Given the description of an element on the screen output the (x, y) to click on. 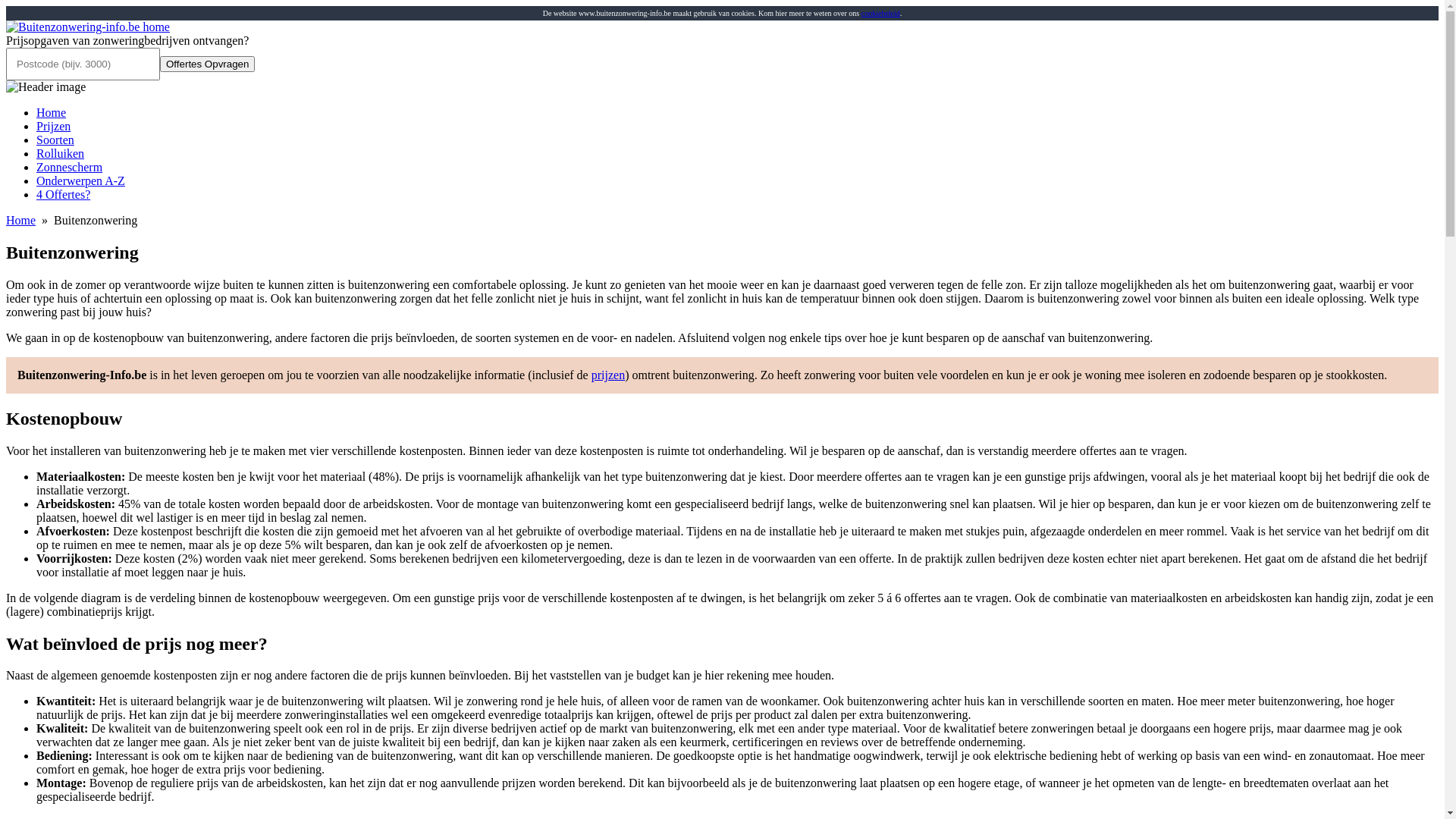
Home Element type: text (20, 219)
cookiebeleid Element type: text (880, 13)
prijzen Element type: text (607, 374)
Offertes Opvragen Element type: text (207, 64)
Zonnescherm Element type: text (69, 166)
Prijzen Element type: text (53, 125)
Onderwerpen A-Z Element type: text (80, 180)
Soorten Element type: text (55, 139)
Rolluiken Element type: text (60, 153)
Home Element type: text (50, 112)
4 Offertes? Element type: text (63, 194)
